Given the description of an element on the screen output the (x, y) to click on. 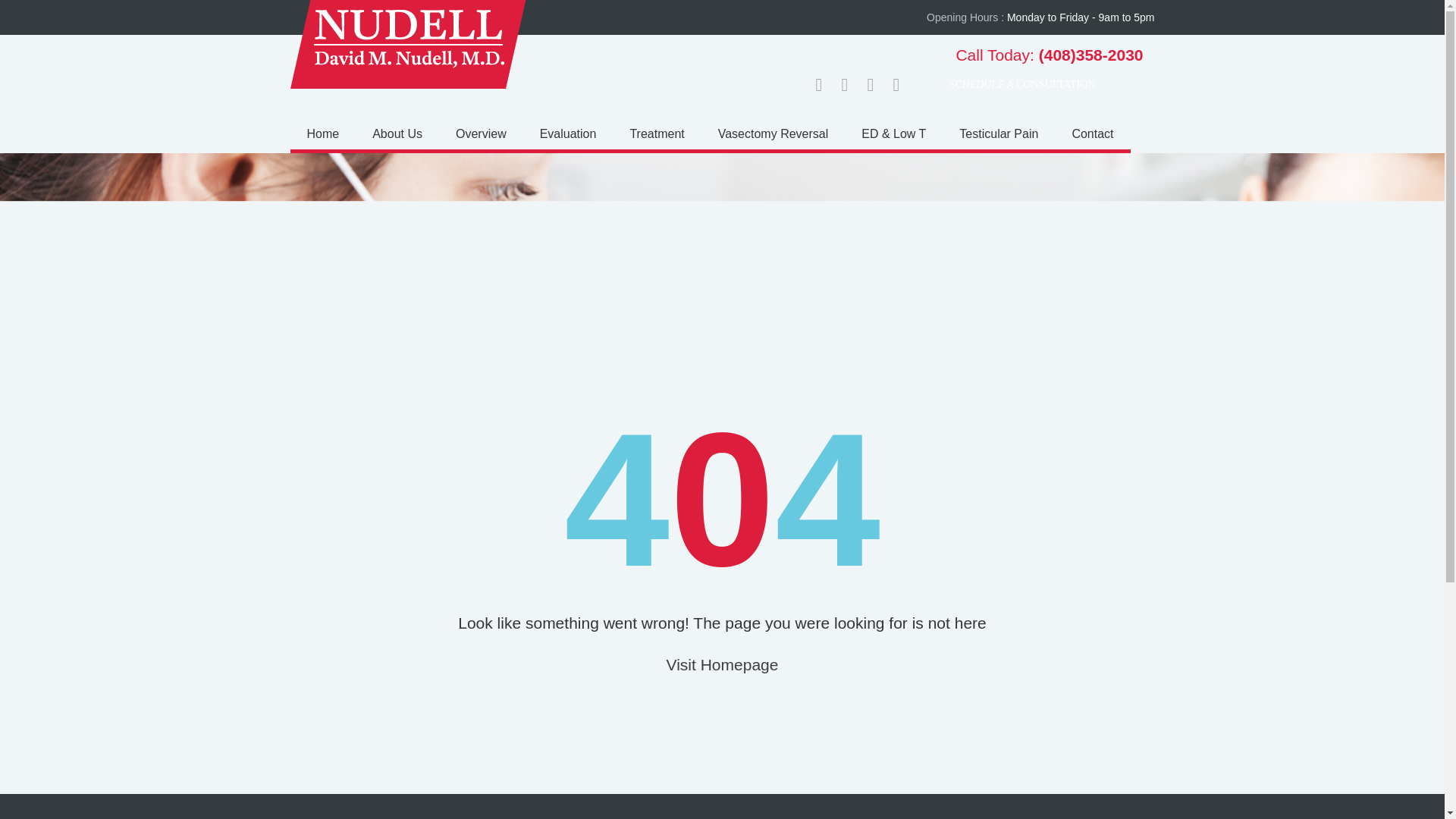
Contact (1091, 134)
Evaluation (567, 134)
Testicular Pain (998, 134)
Visit Homepage (722, 664)
SCHEDULE A CONSULTATION (1038, 84)
Overview (480, 134)
About Us (397, 134)
Home (322, 134)
Vasectomy Reversal (773, 134)
Treatment (656, 134)
